Given the description of an element on the screen output the (x, y) to click on. 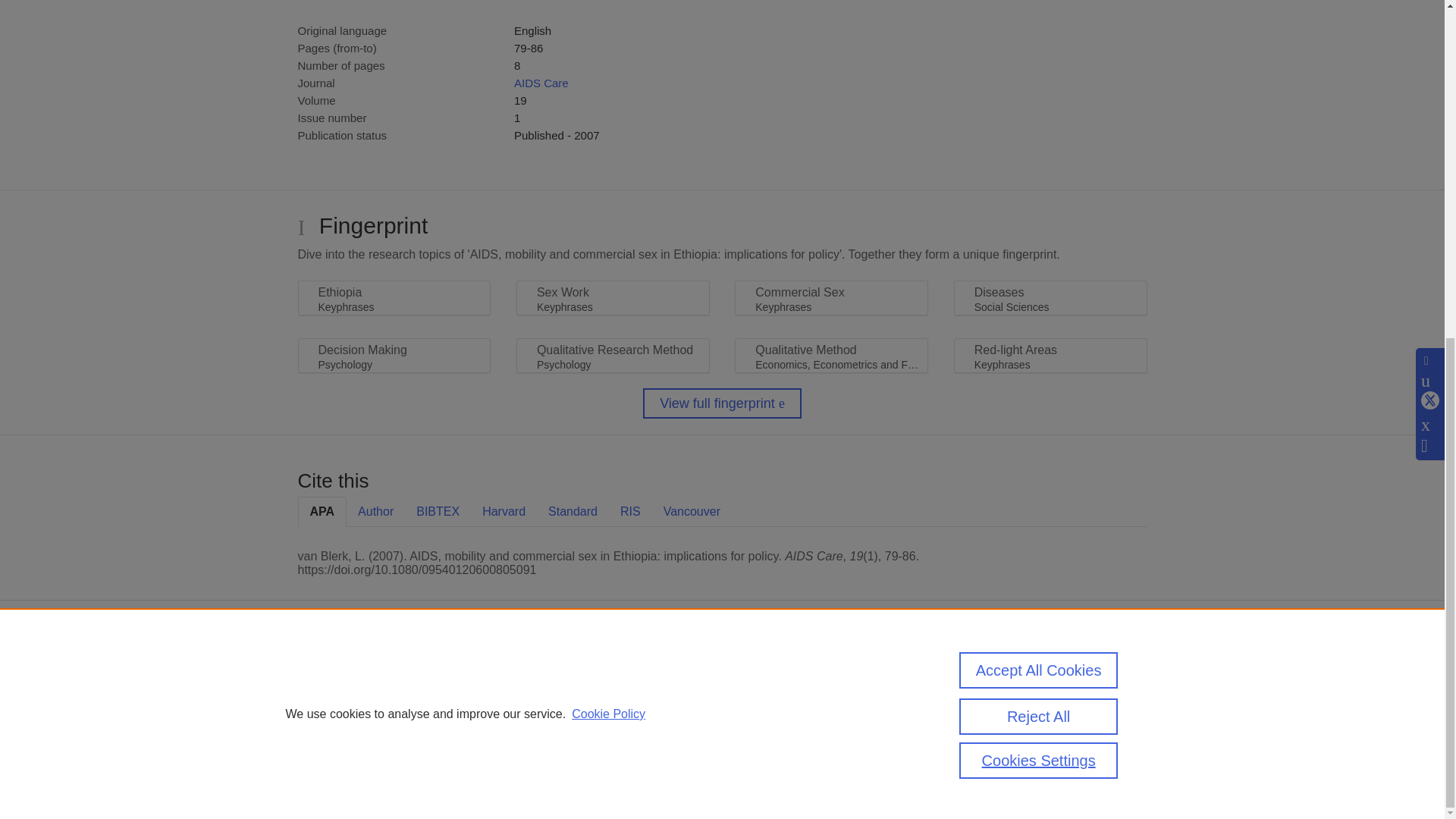
Pure (362, 675)
Scopus (394, 675)
View full fingerprint (722, 403)
AIDS Care (541, 82)
